Given the description of an element on the screen output the (x, y) to click on. 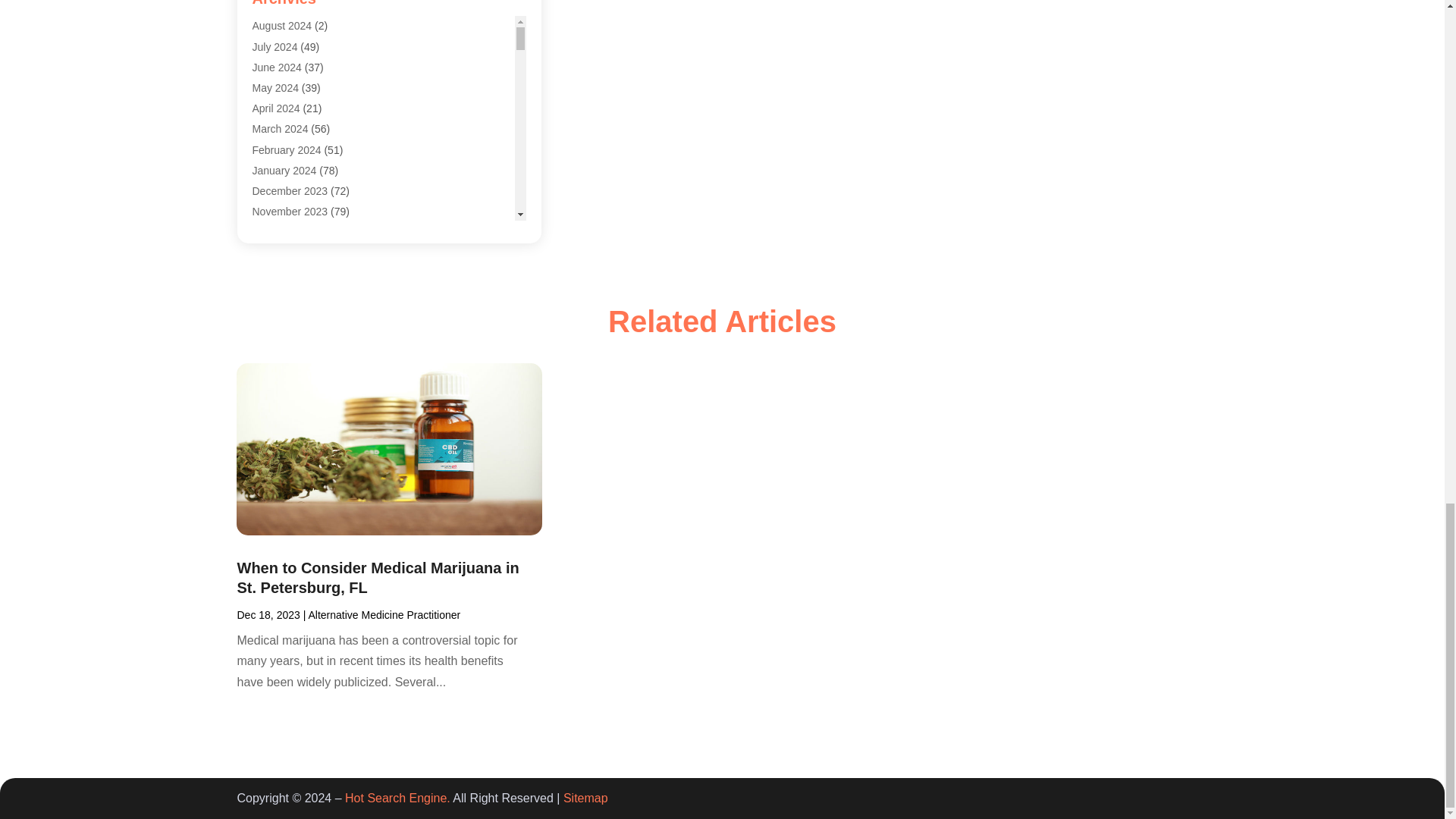
Air Conditioner (286, 30)
